Given the description of an element on the screen output the (x, y) to click on. 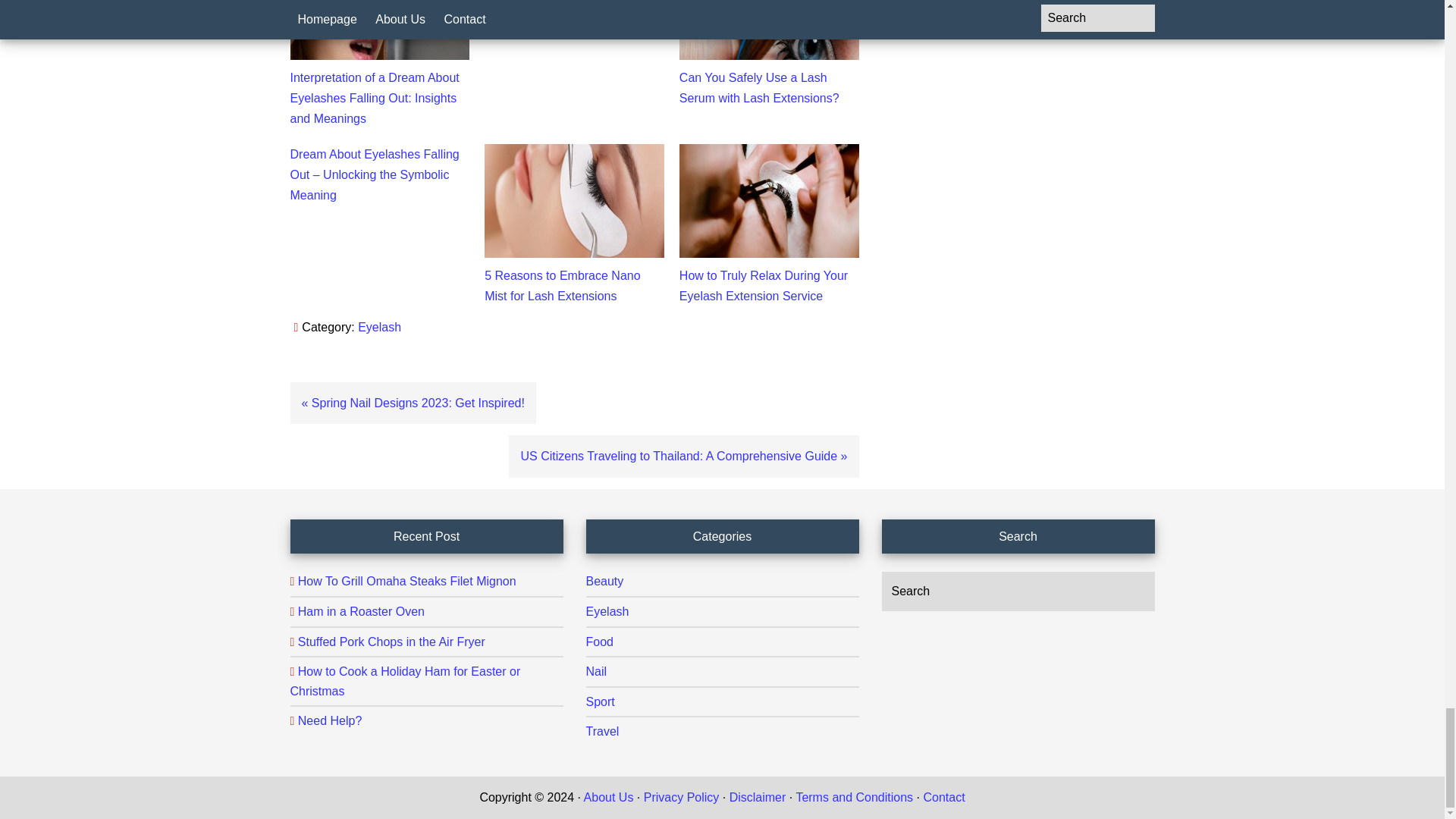
5 Reasons to Embrace Nano Mist for Lash Extensions (562, 285)
How to Truly Relax During Your Eyelash Extension Service (763, 285)
Eyelash (379, 327)
Can You Safely Use a Lash Serum with Lash Extensions? (759, 87)
